Given the description of an element on the screen output the (x, y) to click on. 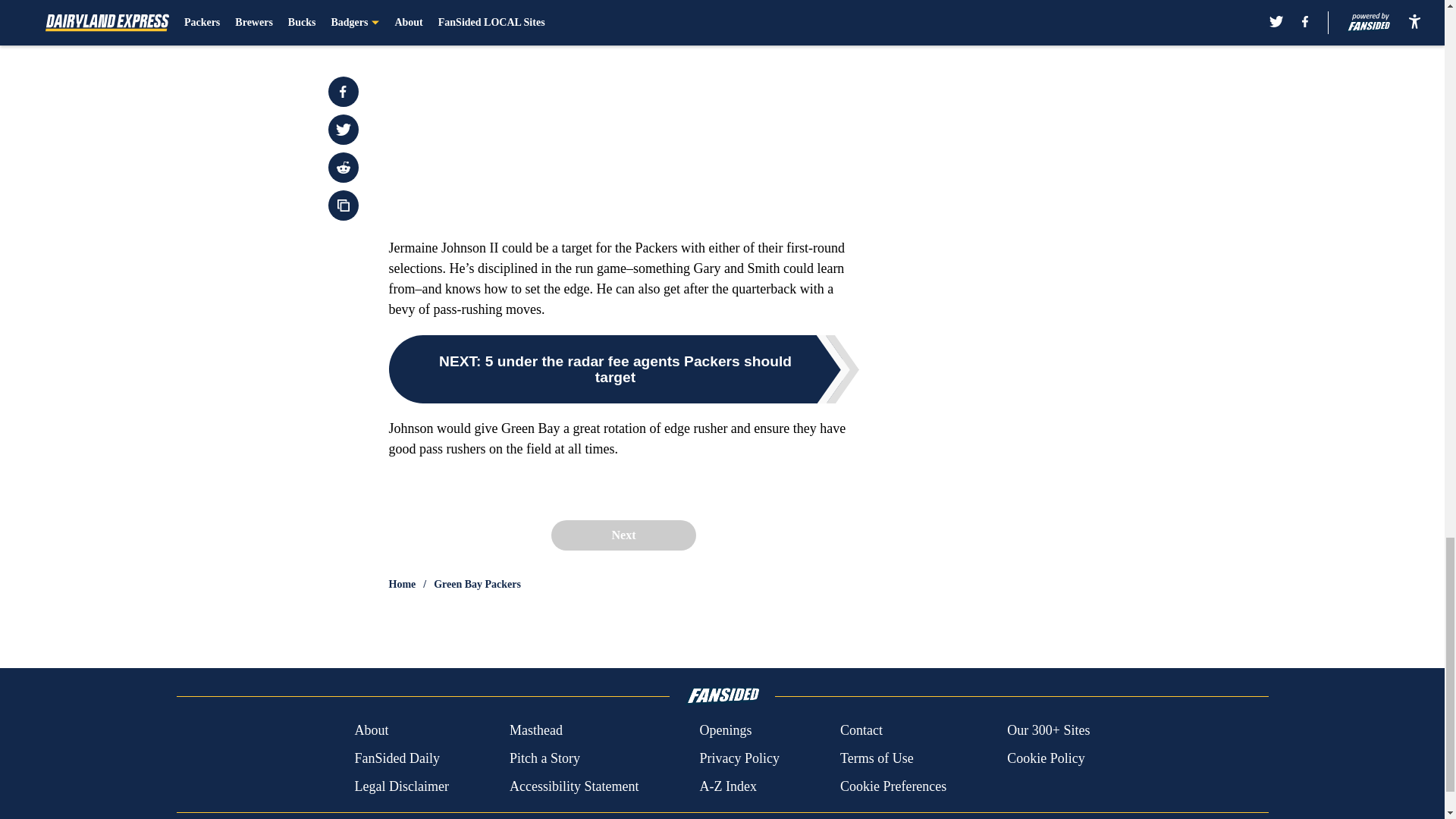
Green Bay Packers (477, 584)
Home (401, 584)
Privacy Policy (738, 758)
Contact (861, 730)
FanSided Daily (396, 758)
Terms of Use (877, 758)
Next (622, 535)
About (370, 730)
Masthead (535, 730)
Pitch a Story (544, 758)
